Given the description of an element on the screen output the (x, y) to click on. 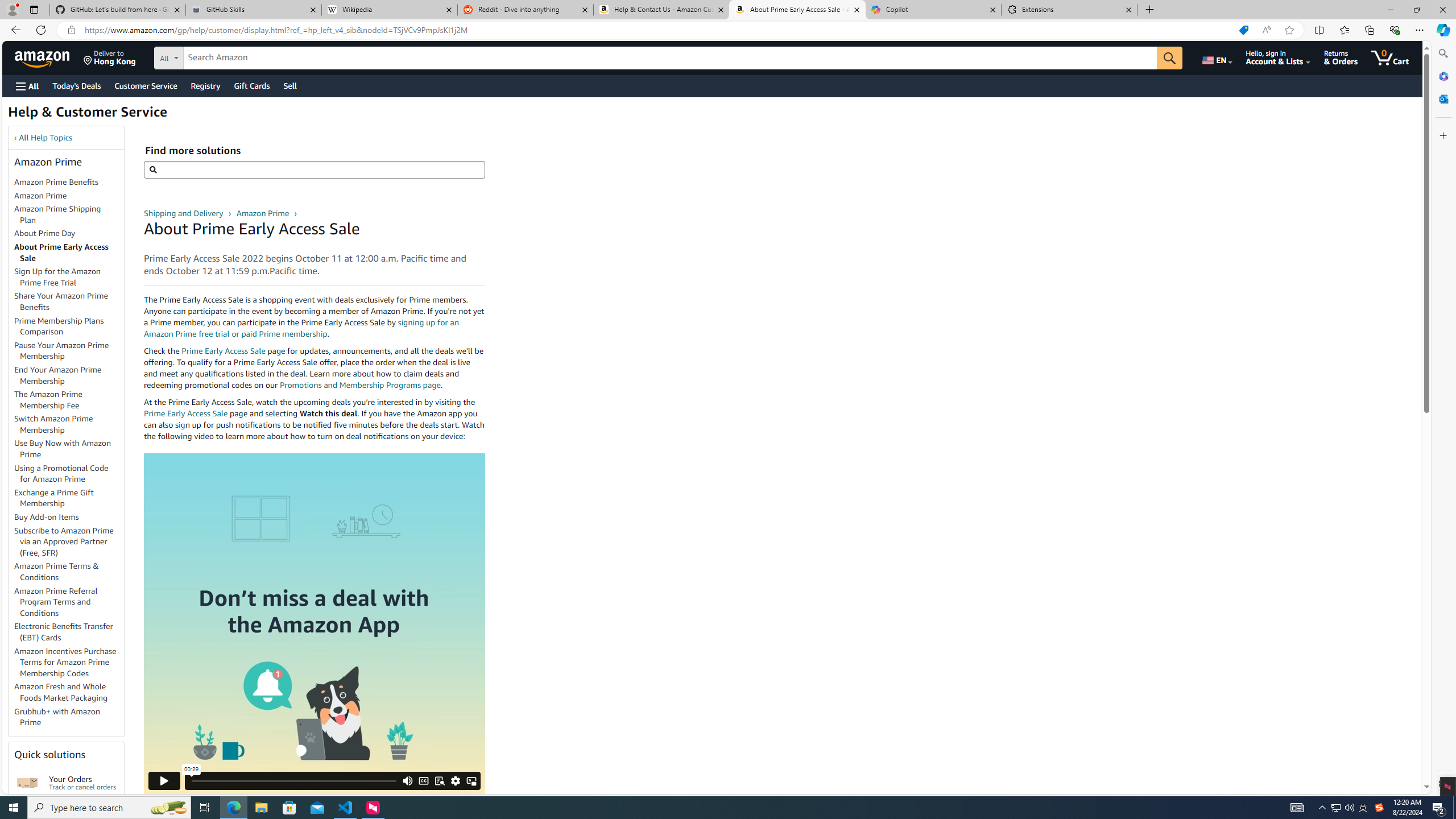
Use Buy Now with Amazon Prime (63, 449)
Share Your Amazon Prime Benefits (68, 301)
Extensions (1068, 9)
Amazon Prime (40, 195)
Pause Your Amazon Prime Membership (61, 350)
Amazon Fresh and Whole Foods Market Packaging (60, 691)
Open Menu (26, 86)
Find more solutions (314, 169)
Hello, sign in Account & Lists (1278, 57)
Your Orders Track or cancel orders (82, 782)
Use Buy Now with Amazon Prime (68, 449)
